Given the description of an element on the screen output the (x, y) to click on. 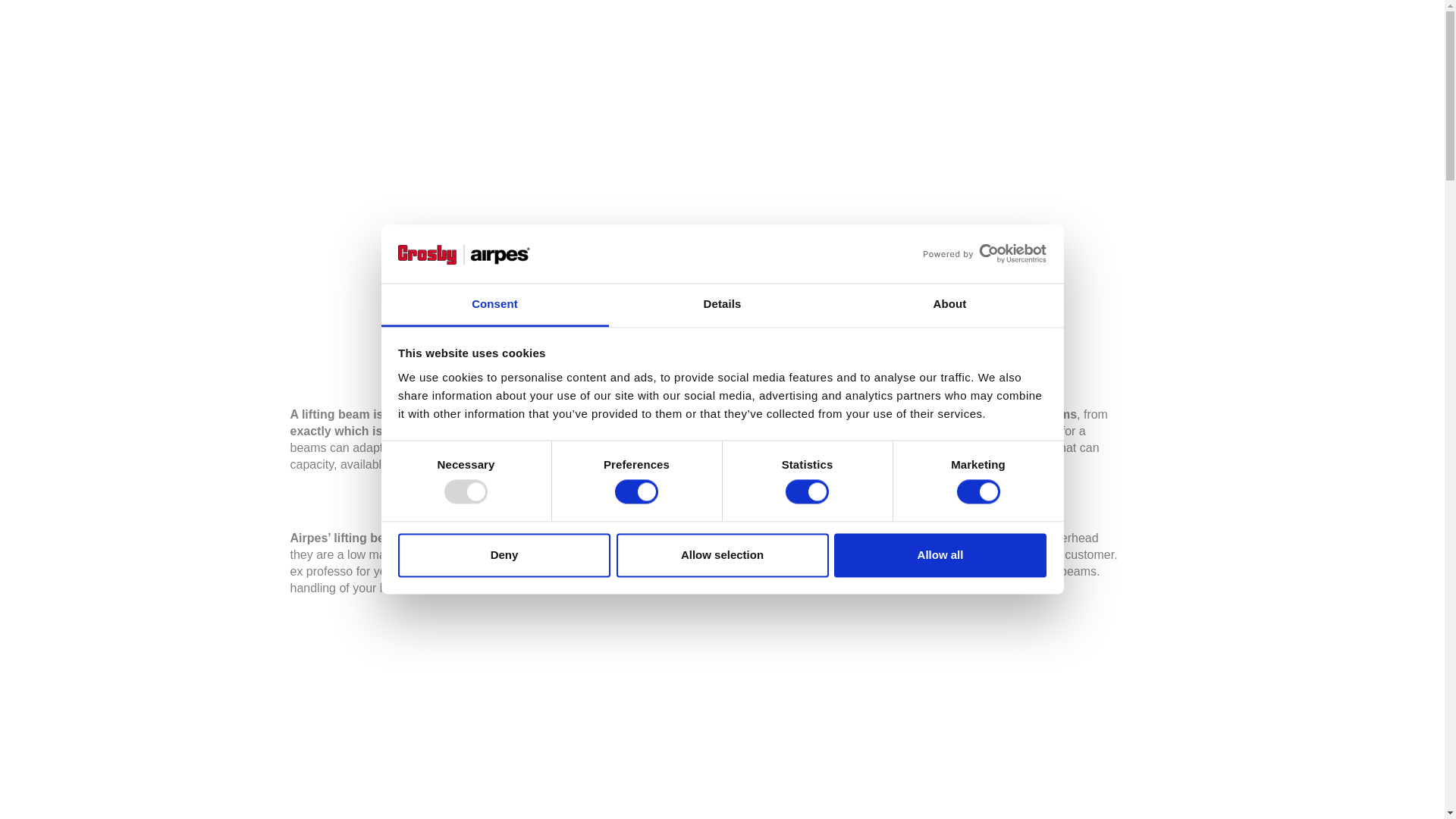
Consent (494, 304)
Details (721, 304)
About (948, 304)
